Given the description of an element on the screen output the (x, y) to click on. 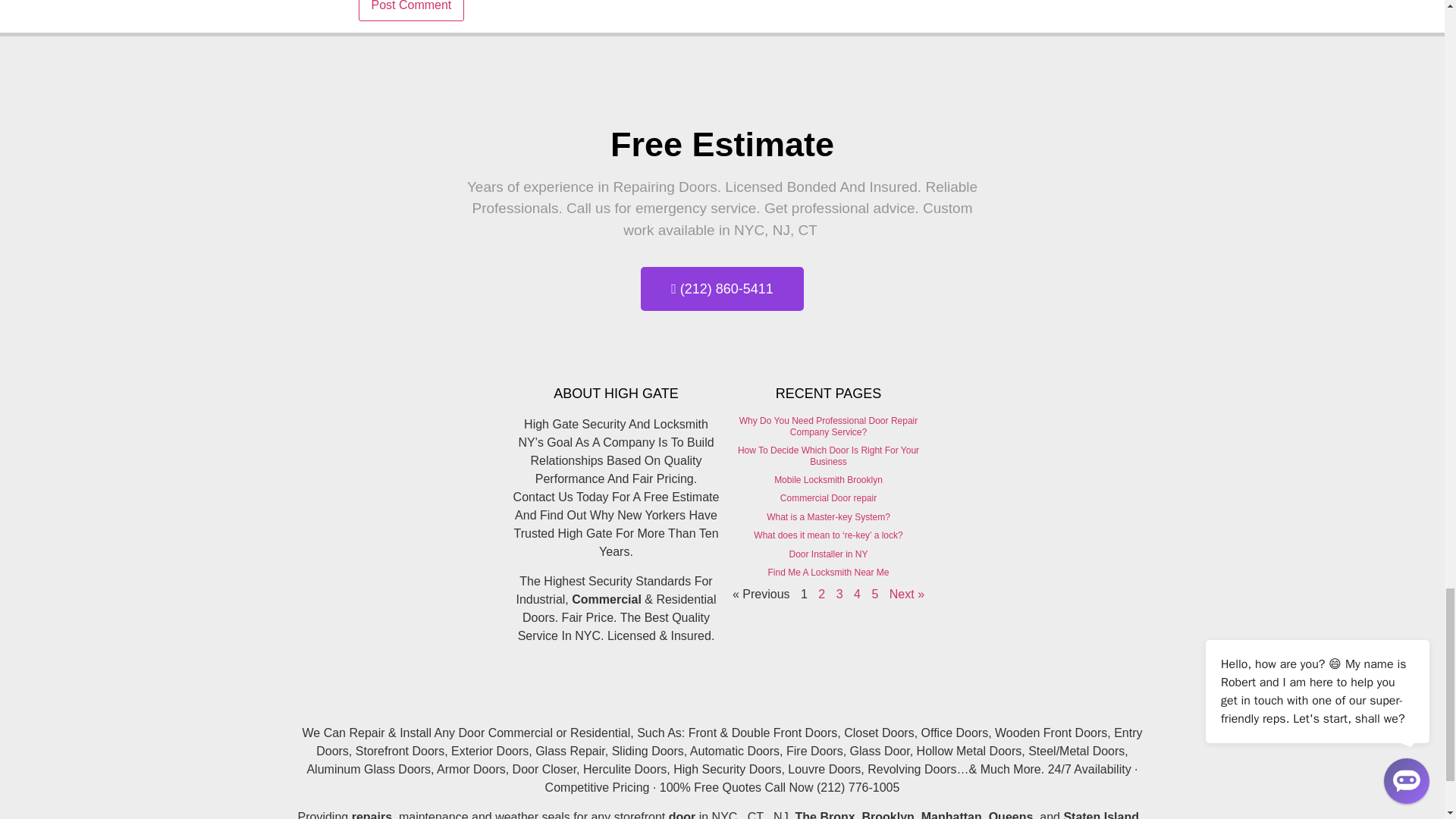
Post Comment (411, 10)
